Given the description of an element on the screen output the (x, y) to click on. 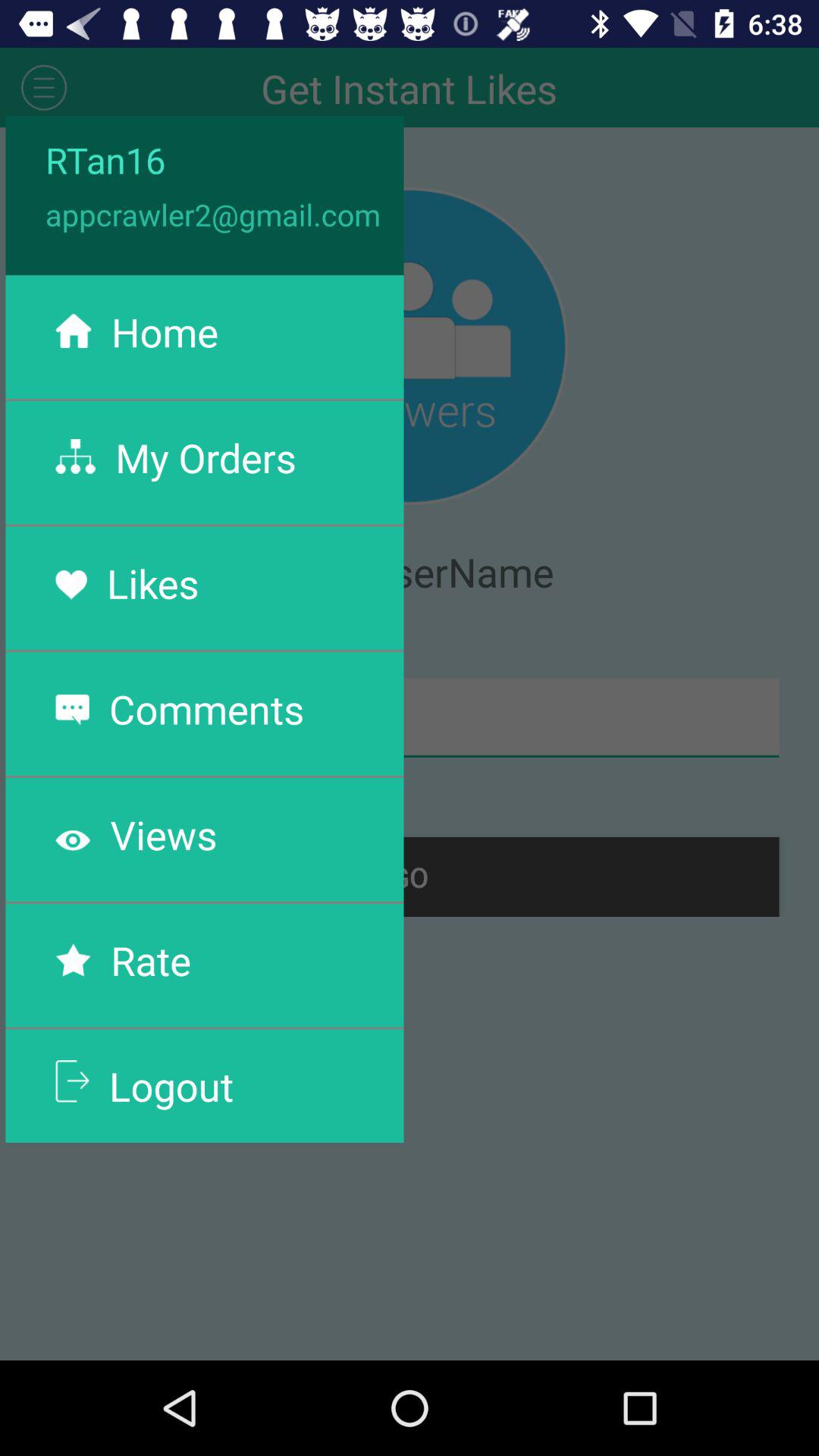
swipe to the comments app (206, 708)
